Given the description of an element on the screen output the (x, y) to click on. 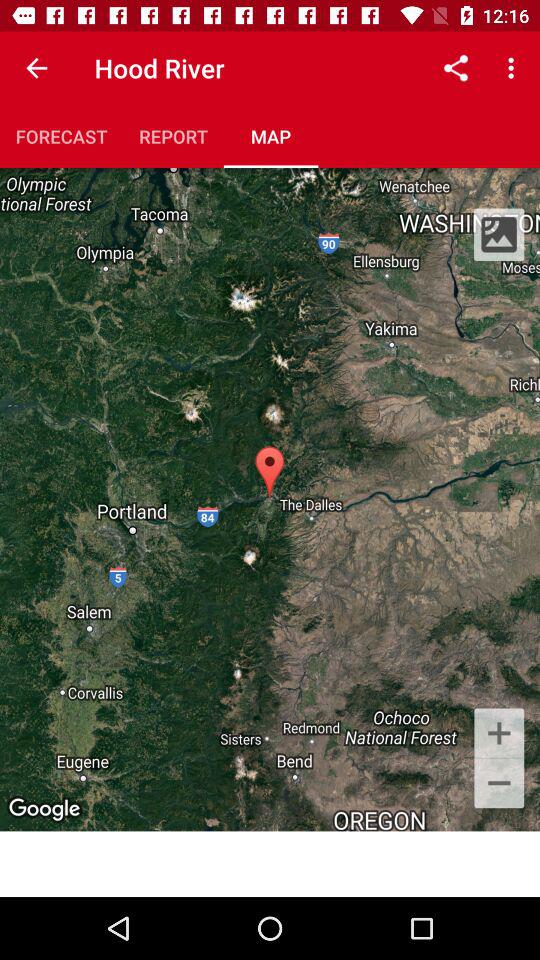
press the item above the forecast icon (36, 68)
